Given the description of an element on the screen output the (x, y) to click on. 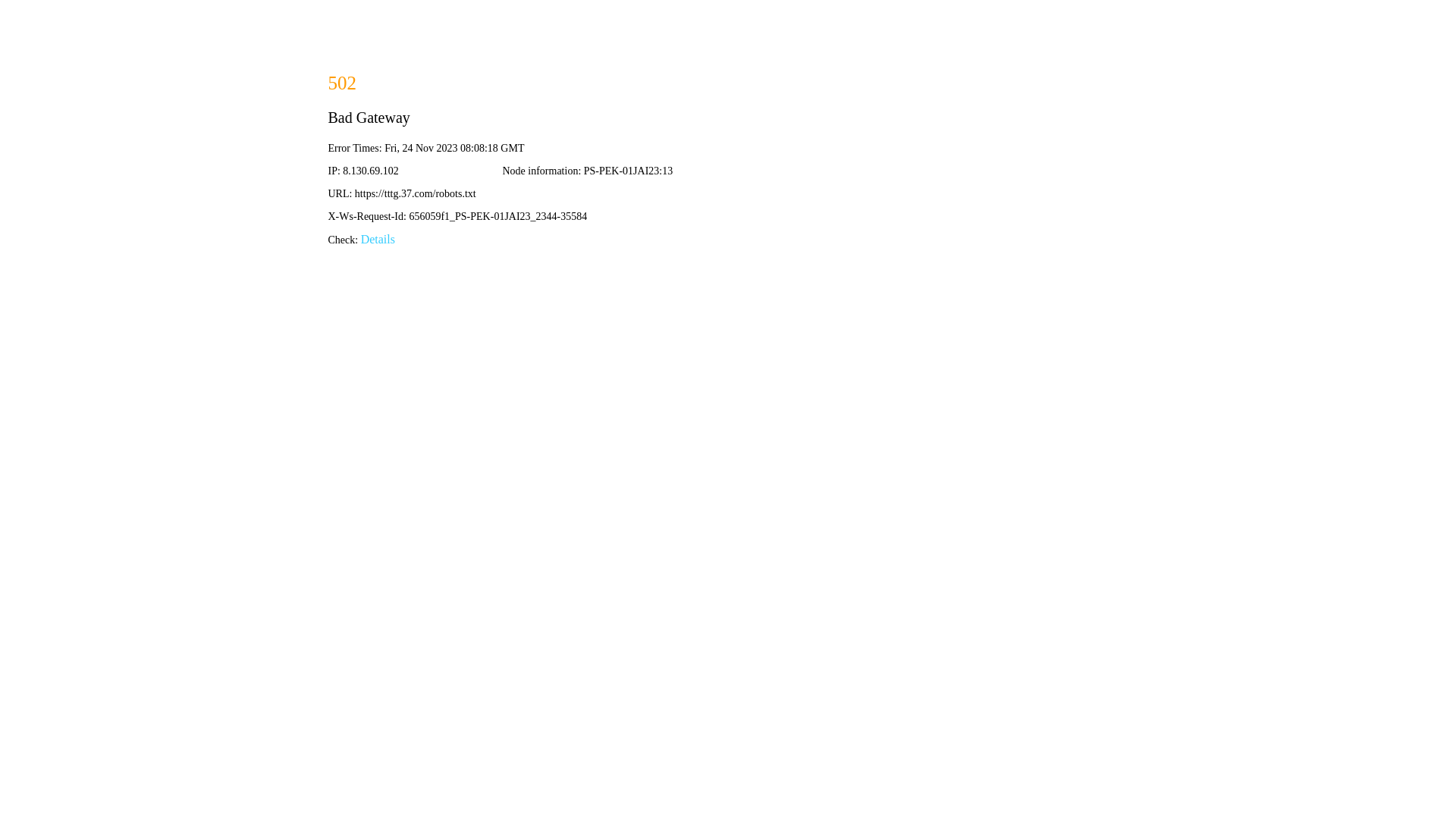
Details Element type: text (377, 238)
